Given the description of an element on the screen output the (x, y) to click on. 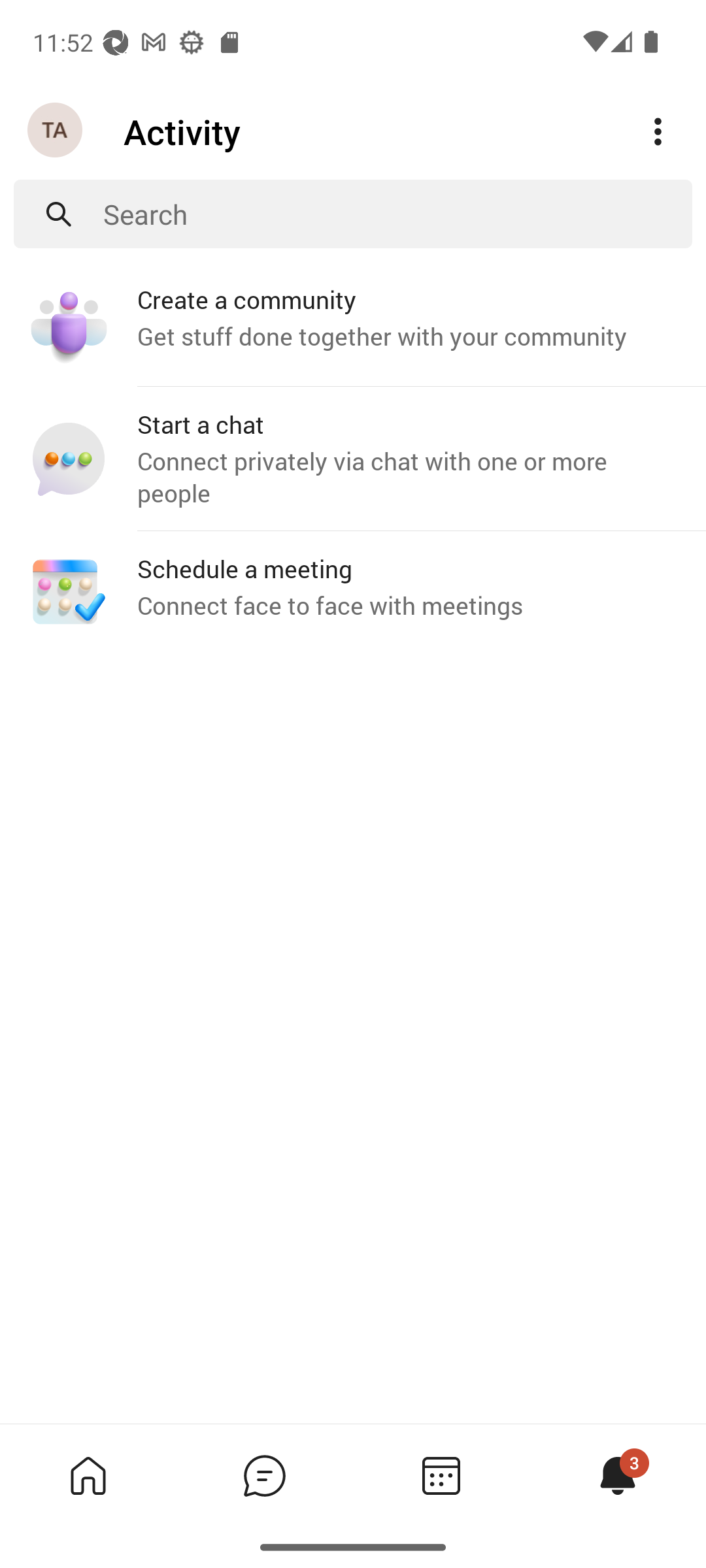
More options (657, 131)
Navigation (56, 130)
Search (397, 213)
Home tab,1 of 4, not selected (88, 1475)
Chat tab,2 of 4, not selected (264, 1475)
Calendar tab,3 of 4, not selected (441, 1475)
Activity tab, 4 of 4, 3 new 3 (617, 1475)
